Given the description of an element on the screen output the (x, y) to click on. 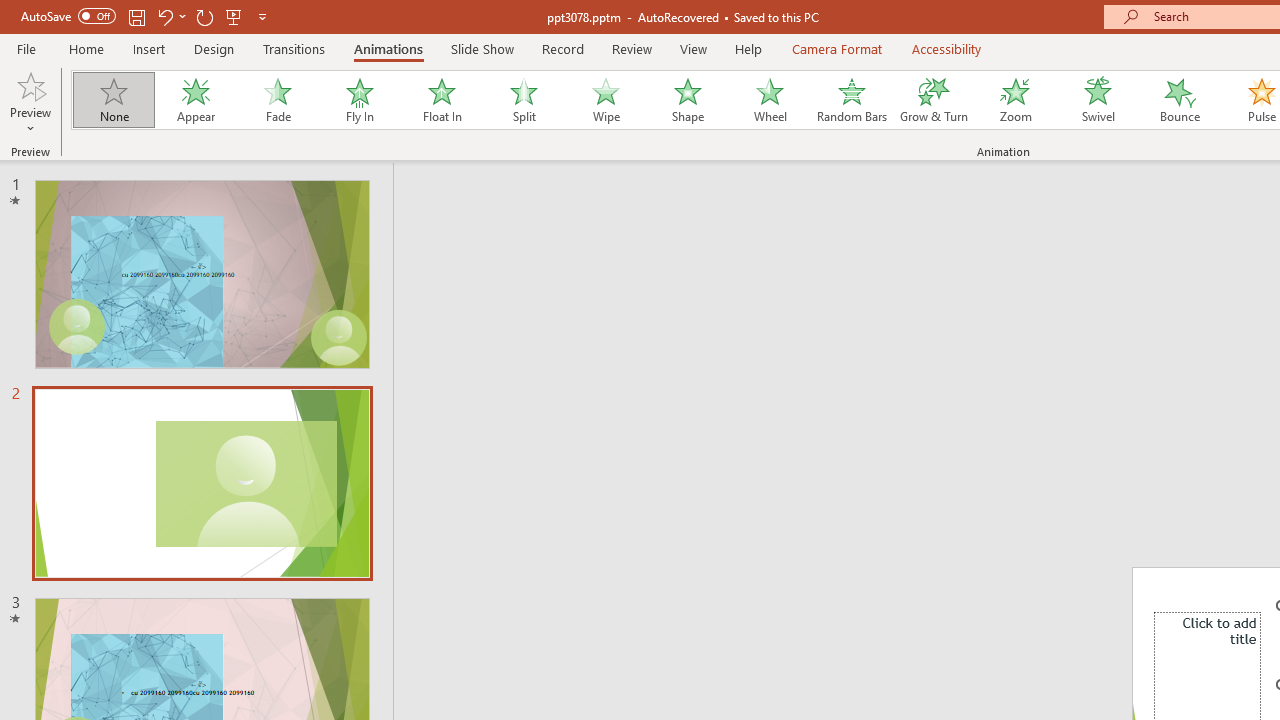
Grow & Turn (934, 100)
Bounce (1180, 100)
Wheel (770, 100)
